Given the description of an element on the screen output the (x, y) to click on. 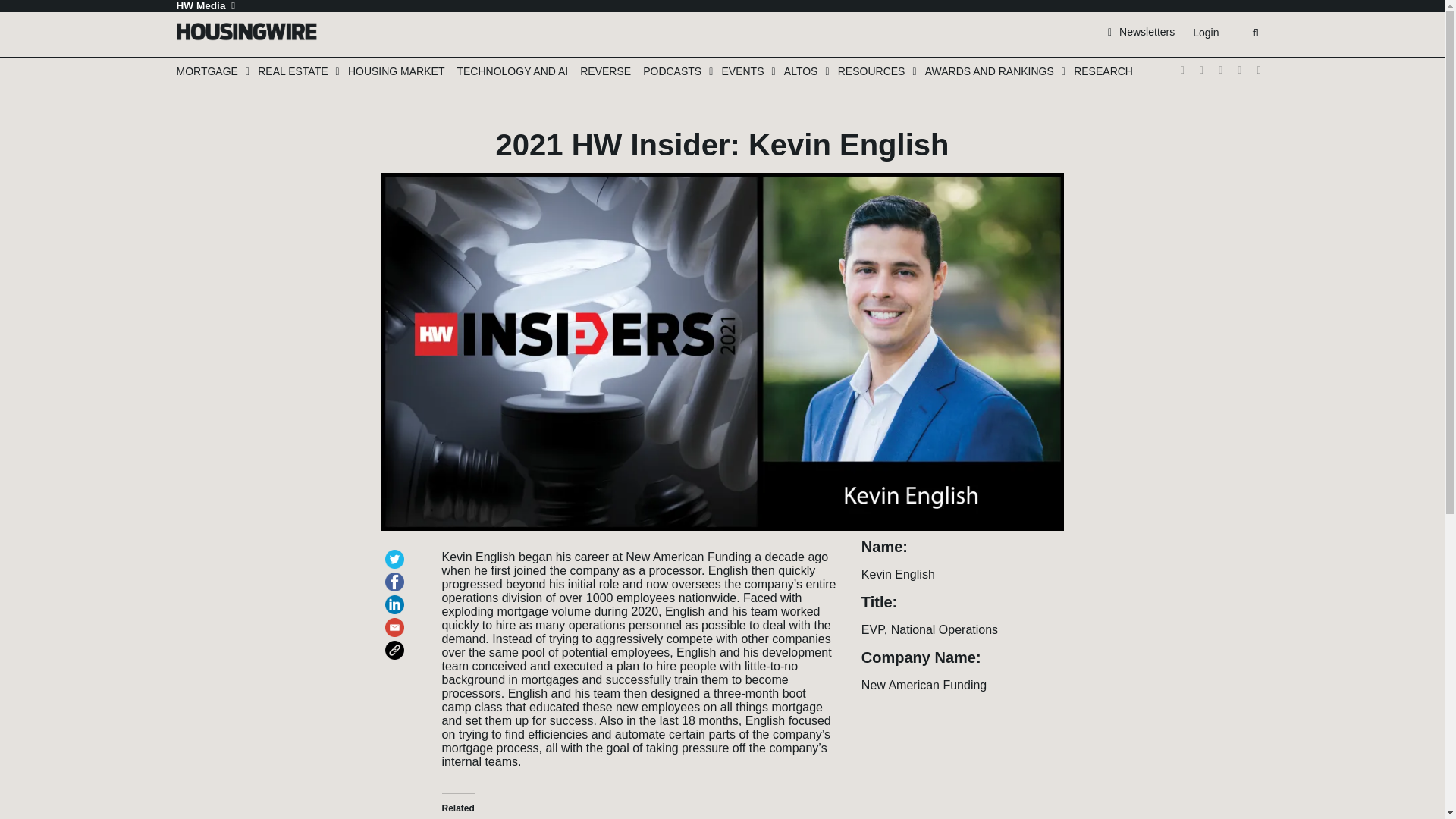
Click to email a link to a friend (398, 620)
Click to share on Facebook (398, 575)
Click to share on LinkedIn (398, 597)
Login (1205, 32)
Click to copy link (398, 643)
Click to share on Twitter (398, 552)
Newsletters (1141, 31)
